Given the description of an element on the screen output the (x, y) to click on. 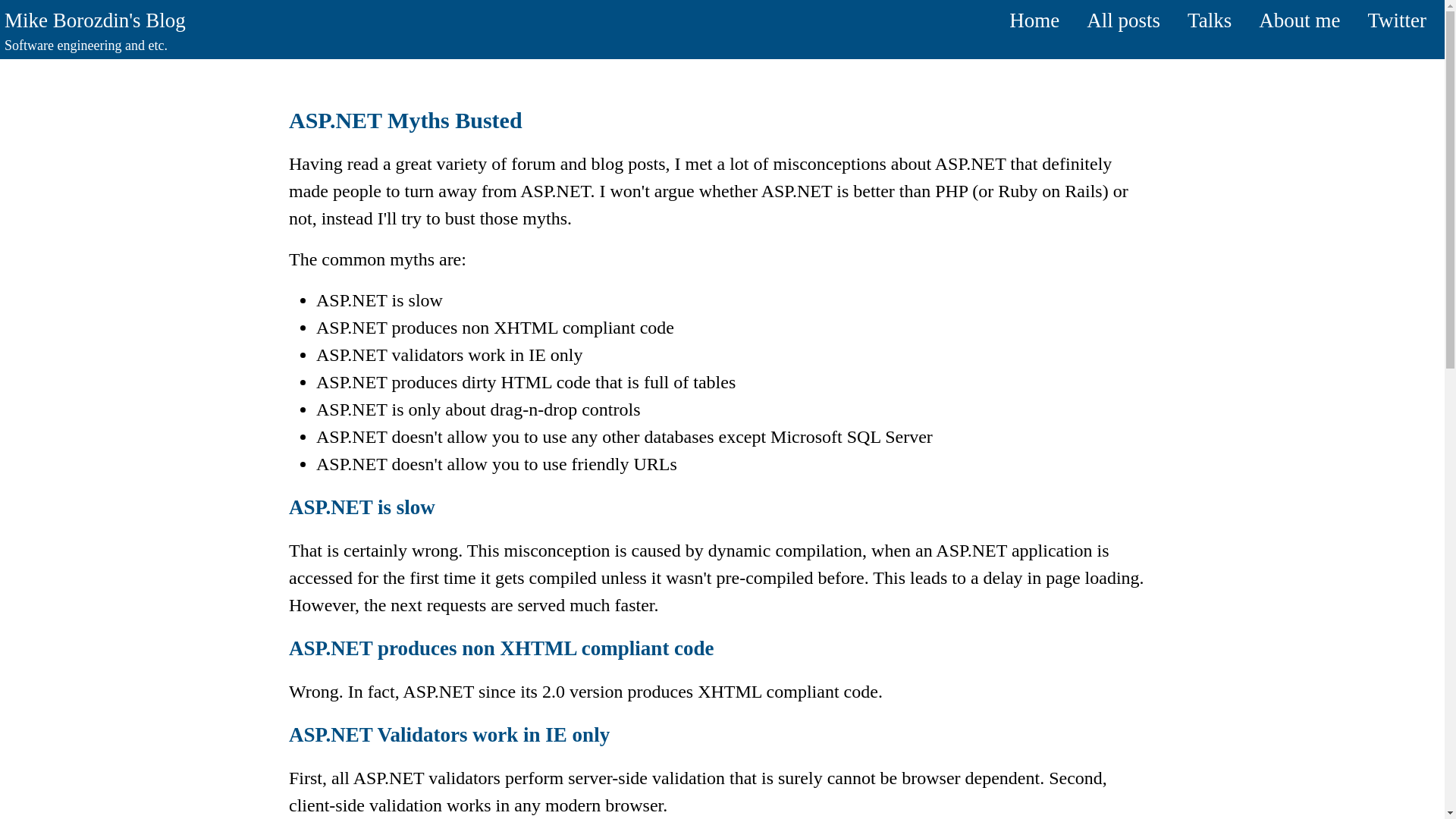
About me (1299, 20)
Home (1034, 20)
Software engineering and etc. (85, 45)
Twitter (1396, 20)
All posts (1123, 20)
Talks (1209, 20)
Mike Borozdin's Blog (95, 20)
